Given the description of an element on the screen output the (x, y) to click on. 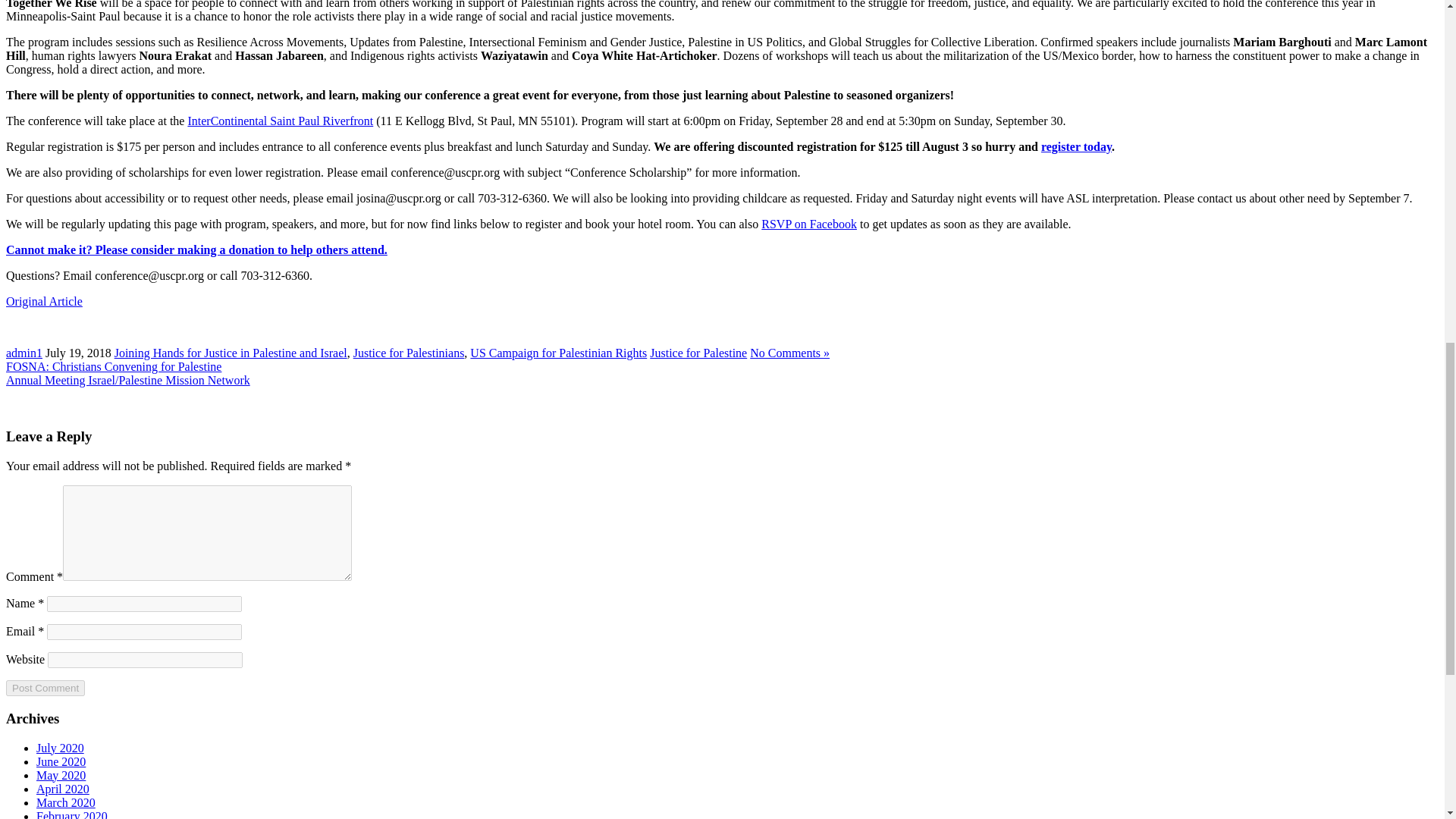
April 2020 (62, 788)
Justice for Palestinians (408, 352)
July 2020 (60, 748)
May 2020 (60, 775)
US Campaign for Palestinian Rights (558, 352)
RSVP on Facebook (809, 223)
InterContinental Saint Paul Riverfront (279, 120)
Joining Hands for Justice in Palestine and Israel (231, 352)
admin1 (23, 352)
March 2020 (66, 802)
Posts by admin1 (23, 352)
February 2020 (71, 814)
Post Comment (44, 688)
FOSNA: Christians Convening for Palestine (113, 366)
